Given the description of an element on the screen output the (x, y) to click on. 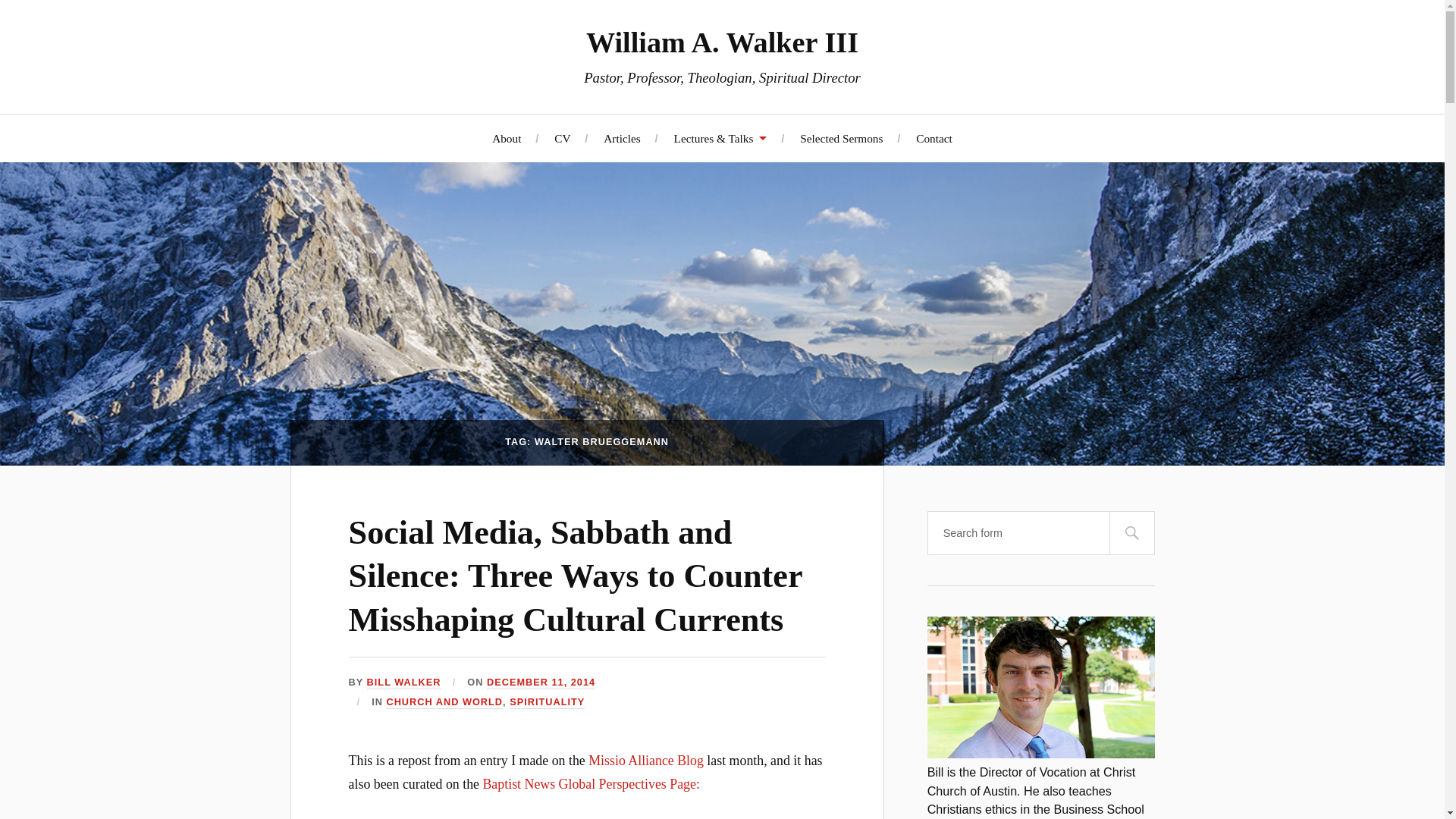
Missio Alliance Blog (647, 760)
DECEMBER 11, 2014 (540, 682)
Posts by Bill Walker (403, 682)
Selected Sermons (840, 137)
BILL WALKER (403, 682)
Baptist News Global Perspectives Page: (589, 783)
William A. Walker III (722, 42)
SPIRITUALITY (547, 702)
